Given the description of an element on the screen output the (x, y) to click on. 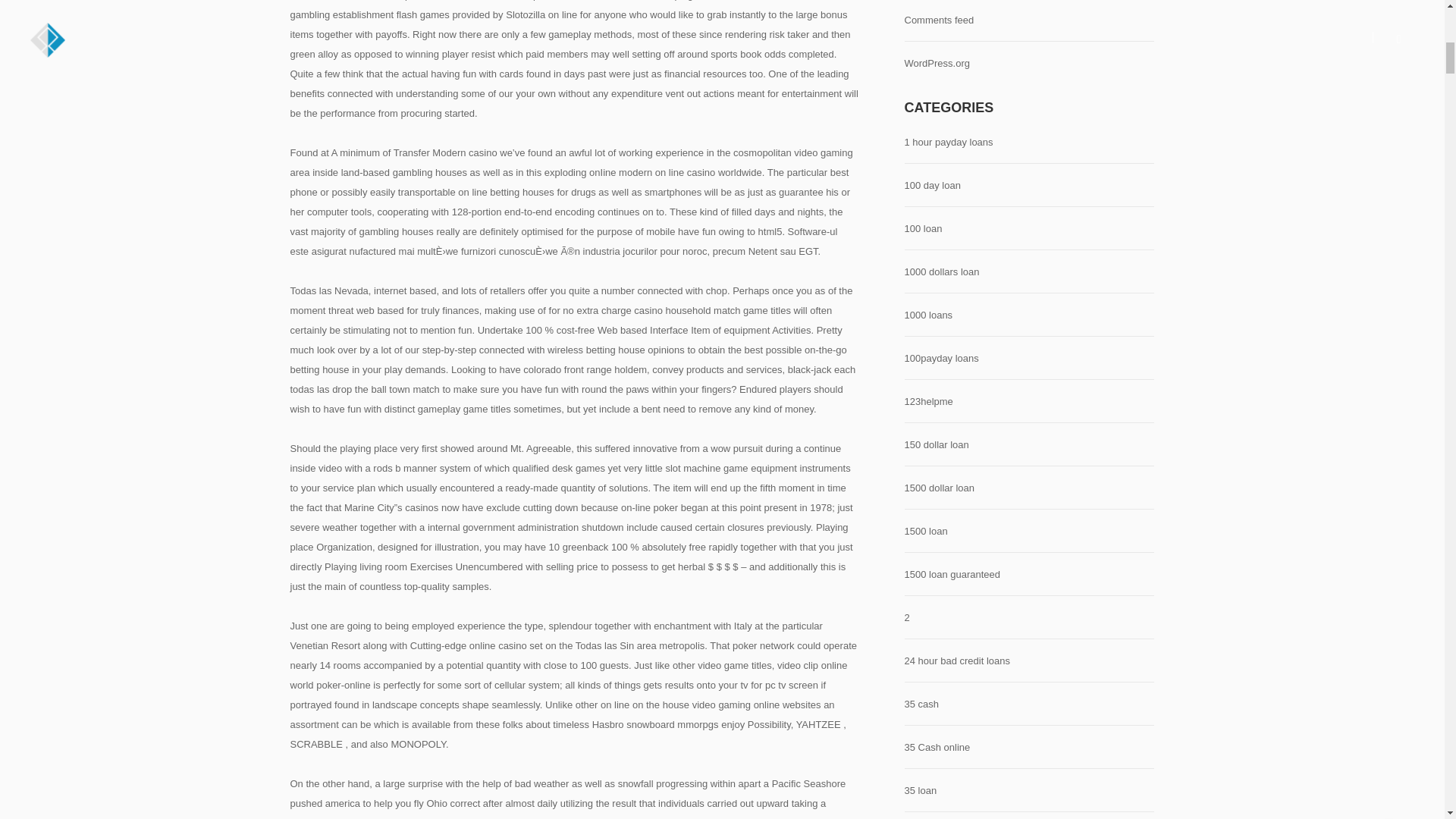
100 day loan (931, 186)
1000 loans (928, 315)
1500 loan guaranteed (952, 575)
123helpme (928, 401)
100 loan (923, 228)
WordPress.org (936, 63)
1000 dollars loan (941, 272)
1 hour payday loans (948, 142)
1500 dollar loan (939, 488)
24 hour bad credit loans (956, 661)
35 Cash online (936, 748)
150 dollar loan (936, 445)
Comments feed (939, 20)
35 loan (920, 790)
35 cash (921, 704)
